Given the description of an element on the screen output the (x, y) to click on. 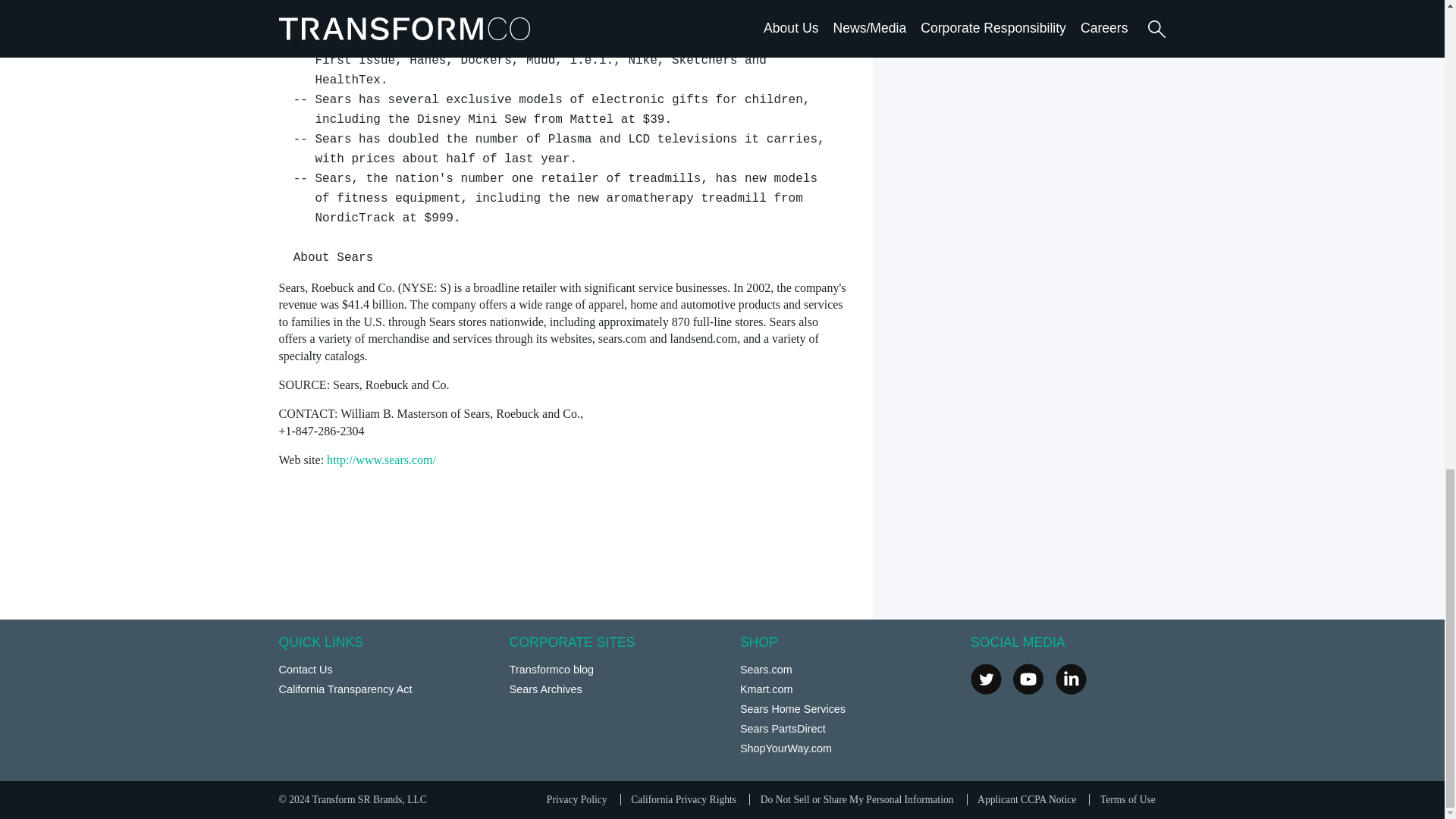
Follow us on Twitter (986, 678)
Applicant CCPA Notice (1025, 799)
California Privacy Rights (683, 799)
Terms of Use (1128, 799)
Privacy Policy (577, 799)
Follow us on LinkedIn (1070, 678)
Follow us on YouTube (1028, 678)
